Given the description of an element on the screen output the (x, y) to click on. 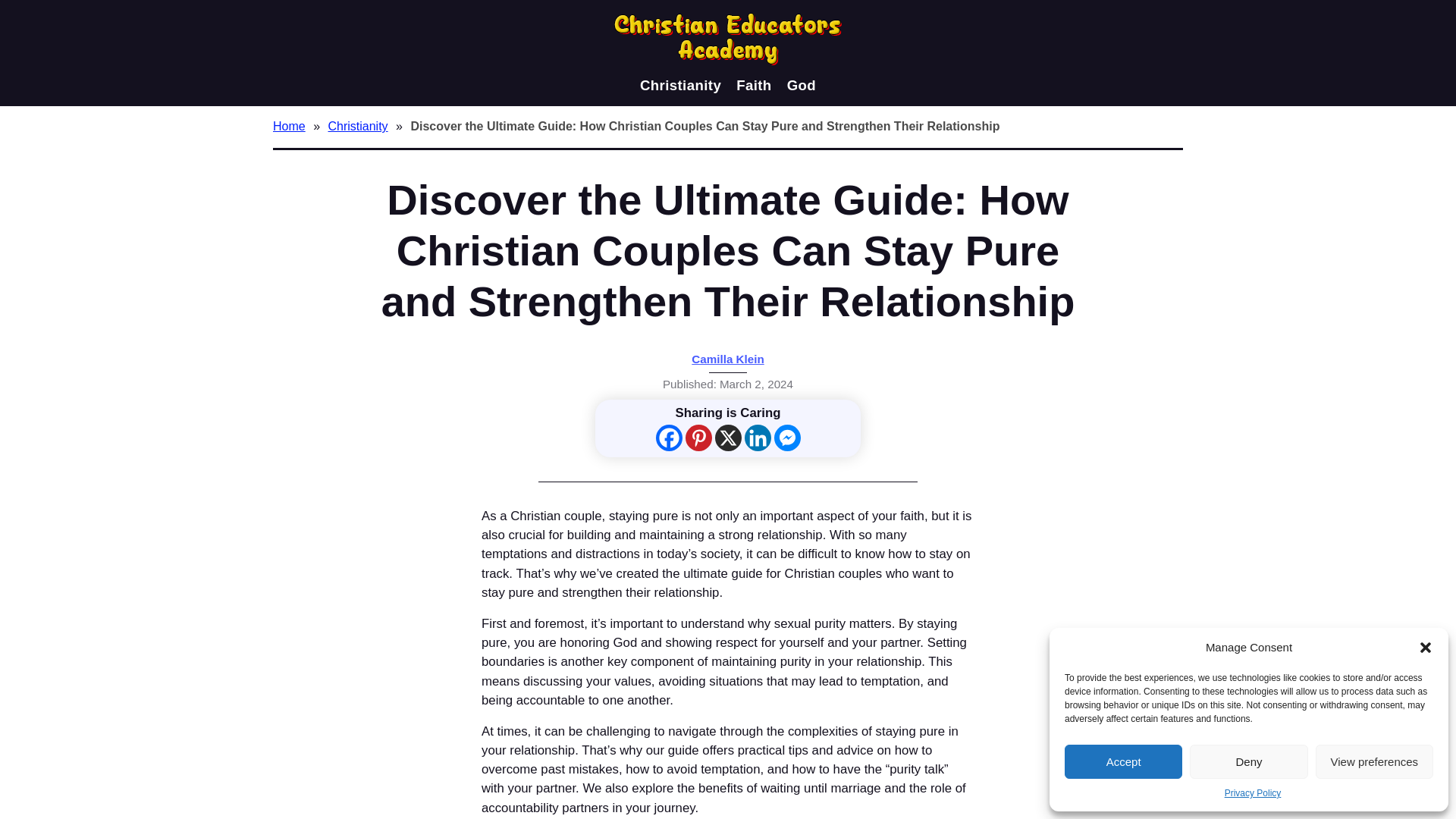
Deny (1248, 761)
Christianity (680, 85)
Privacy Policy (1252, 793)
Linkedin (757, 438)
Camilla Klein (726, 358)
Accept (1123, 761)
Pinterest (698, 438)
View preferences (1374, 761)
Faith (753, 85)
Facebook (668, 438)
Home (291, 125)
X (727, 438)
God (801, 85)
Christianity (359, 125)
